Given the description of an element on the screen output the (x, y) to click on. 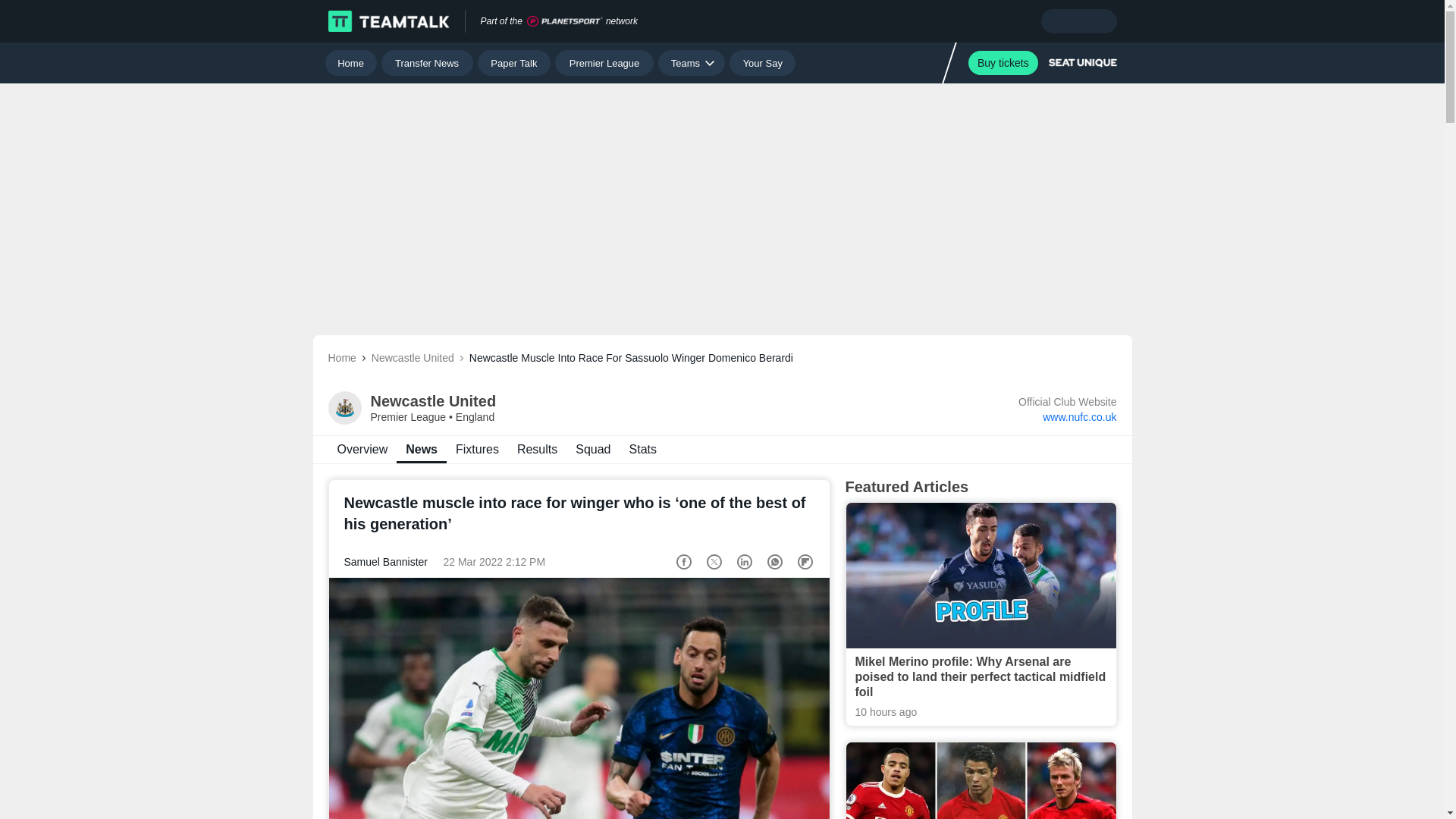
Domenico Berardi dribbling alongside Hakan Calhanoglu (579, 698)
Home (349, 62)
Newcastle United Transfer News (361, 449)
Newcastle United Squad (593, 449)
Teams (691, 62)
Premier League (722, 449)
Transfer News (603, 62)
Buy tickets (427, 62)
Your Say (1003, 62)
Newcastle United Stats (761, 62)
Newcastle United Results (642, 449)
Newcastle United News (537, 449)
Paper Talk (421, 449)
Newcastle United Fixtures (514, 62)
